Given the description of an element on the screen output the (x, y) to click on. 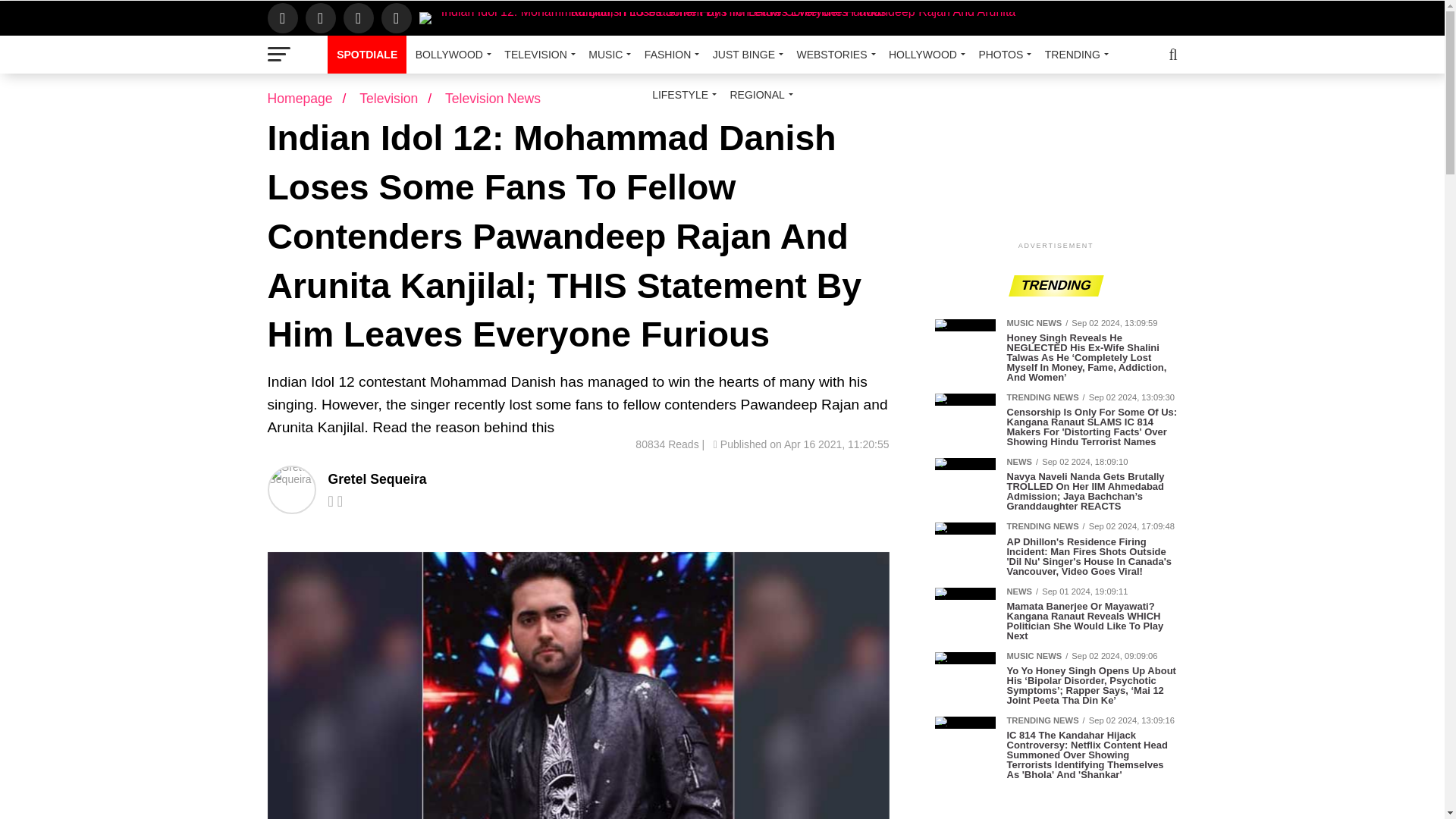
WEBSTORIES (833, 54)
LIFESTYLE (681, 94)
SPOTDIALE (366, 54)
Posts by  Gretel Sequeira  (376, 478)
TELEVISION (537, 54)
HOLLYWOOD (924, 54)
JUST BINGE (745, 54)
TRENDING (1074, 54)
FASHION (668, 54)
REGIONAL (758, 94)
